Given the description of an element on the screen output the (x, y) to click on. 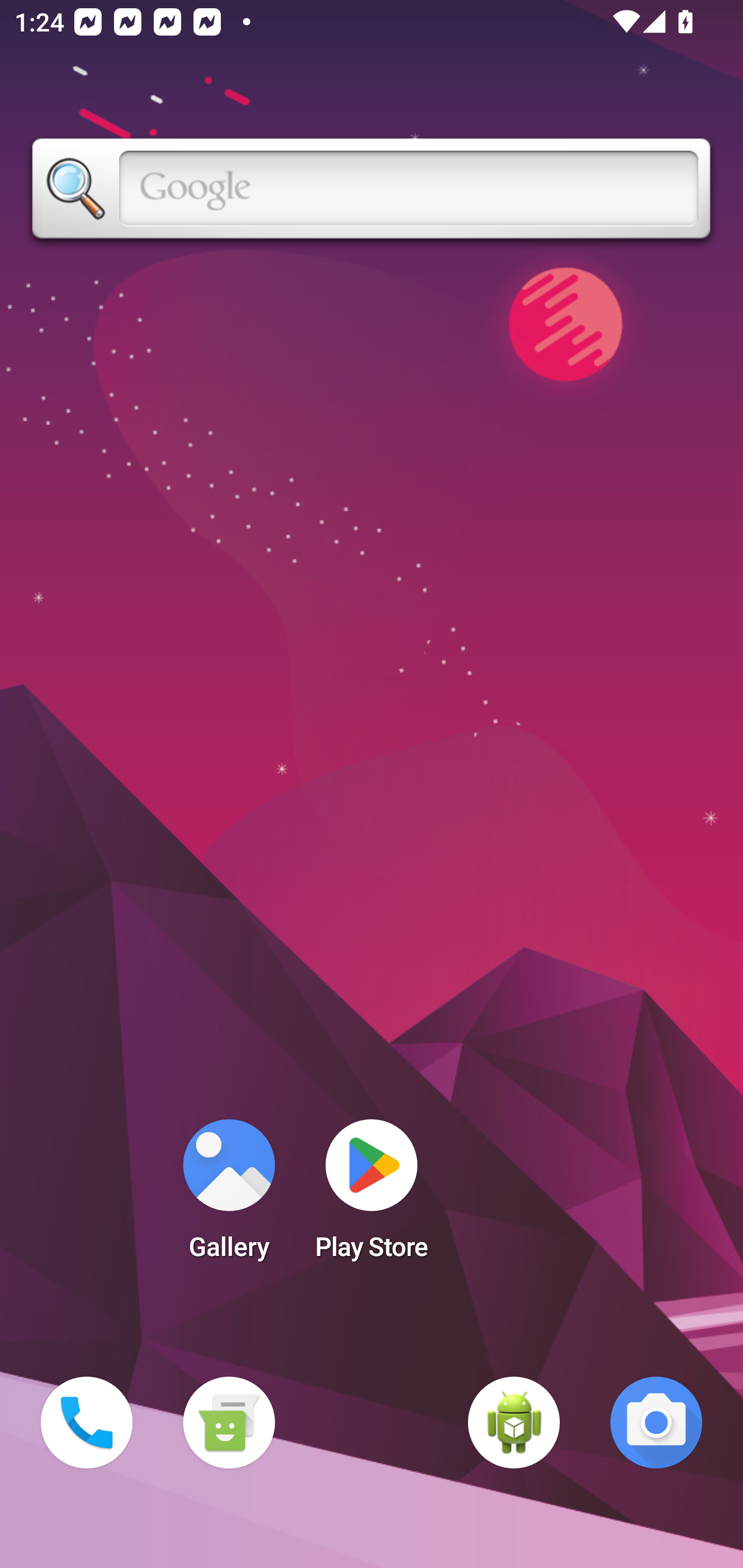
Gallery (228, 1195)
Play Store (371, 1195)
Phone (86, 1422)
Messaging (228, 1422)
WebView Browser Tester (513, 1422)
Camera (656, 1422)
